Given the description of an element on the screen output the (x, y) to click on. 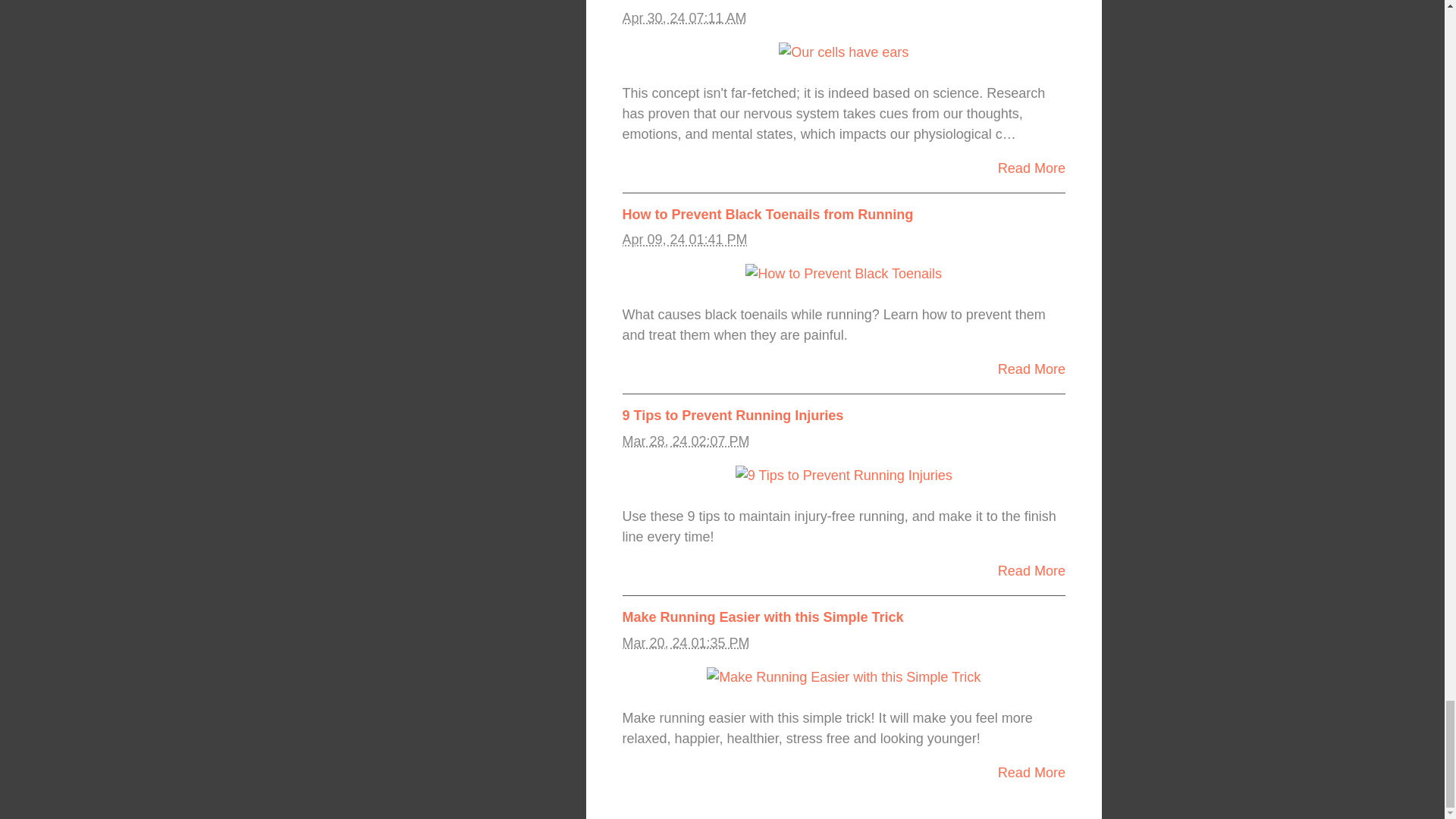
2024-04-30T07:11:43-0400 (683, 17)
2024-03-28T14:07:41-0400 (685, 441)
2024-03-20T13:35:07-0400 (685, 642)
2024-04-09T13:41:28-0400 (683, 239)
